Given the description of an element on the screen output the (x, y) to click on. 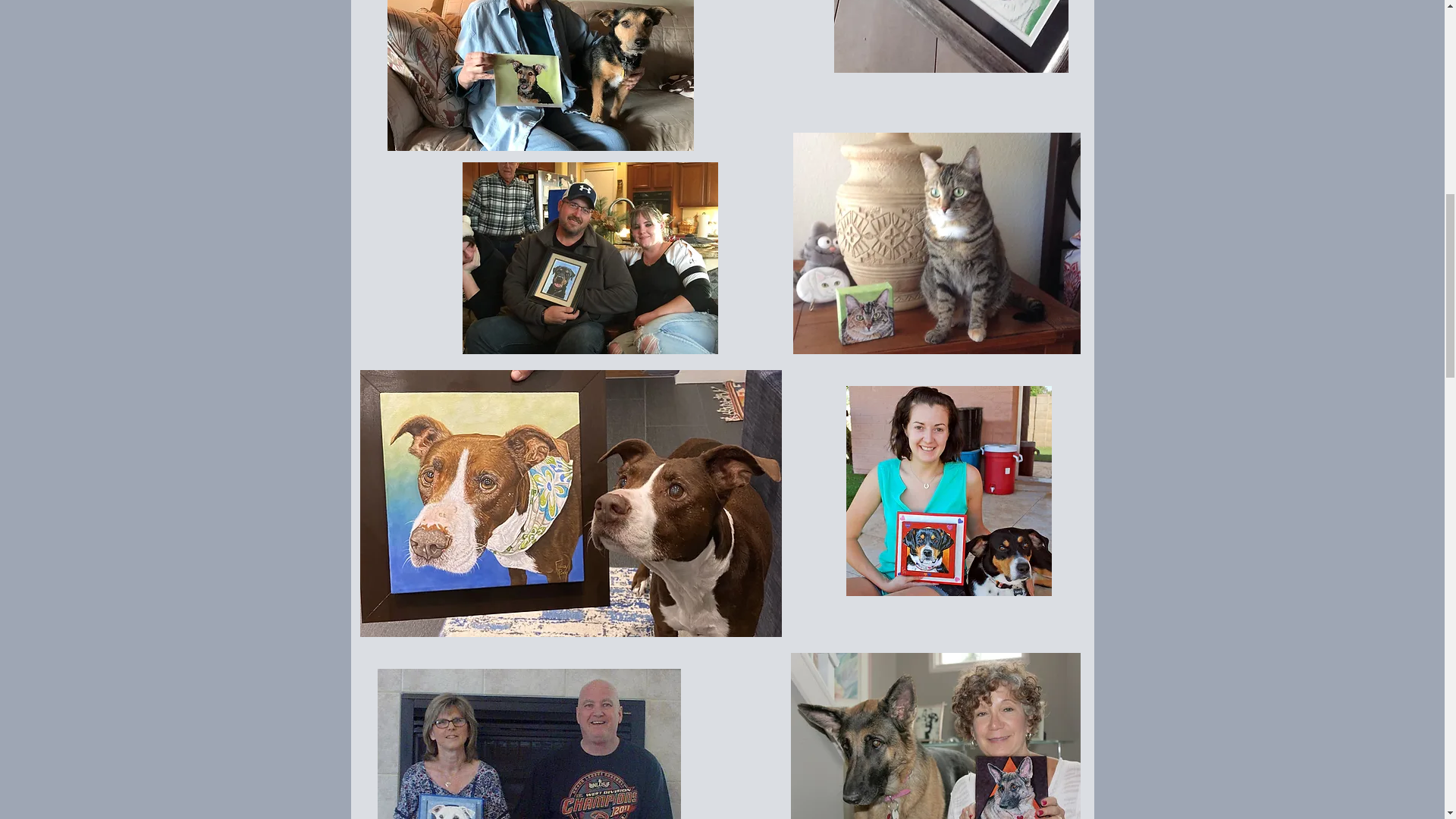
Kiha and her hand painted pet portrait (569, 503)
Avon posing besides her custom pet portrait (936, 242)
Belle loves loves loves her portrait (951, 36)
Maizee and her owner both love the portrait! (935, 735)
Taffy the hound dog loves her custom pet portrait painting! (948, 490)
